Given the description of an element on the screen output the (x, y) to click on. 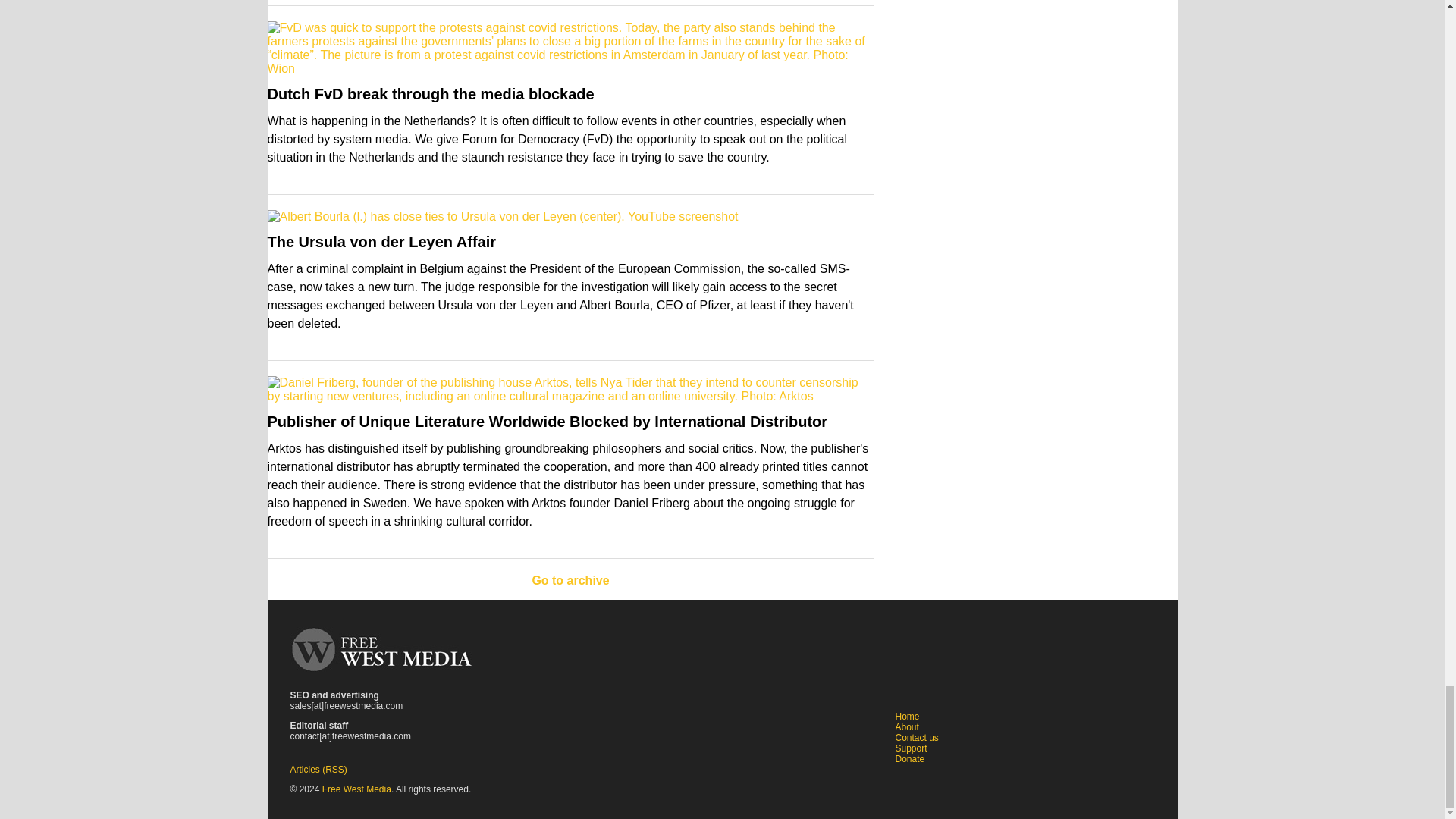
The Ursula von der Leyen Affair (381, 241)
Dutch FvD break through the media blockade (430, 93)
